Given the description of an element on the screen output the (x, y) to click on. 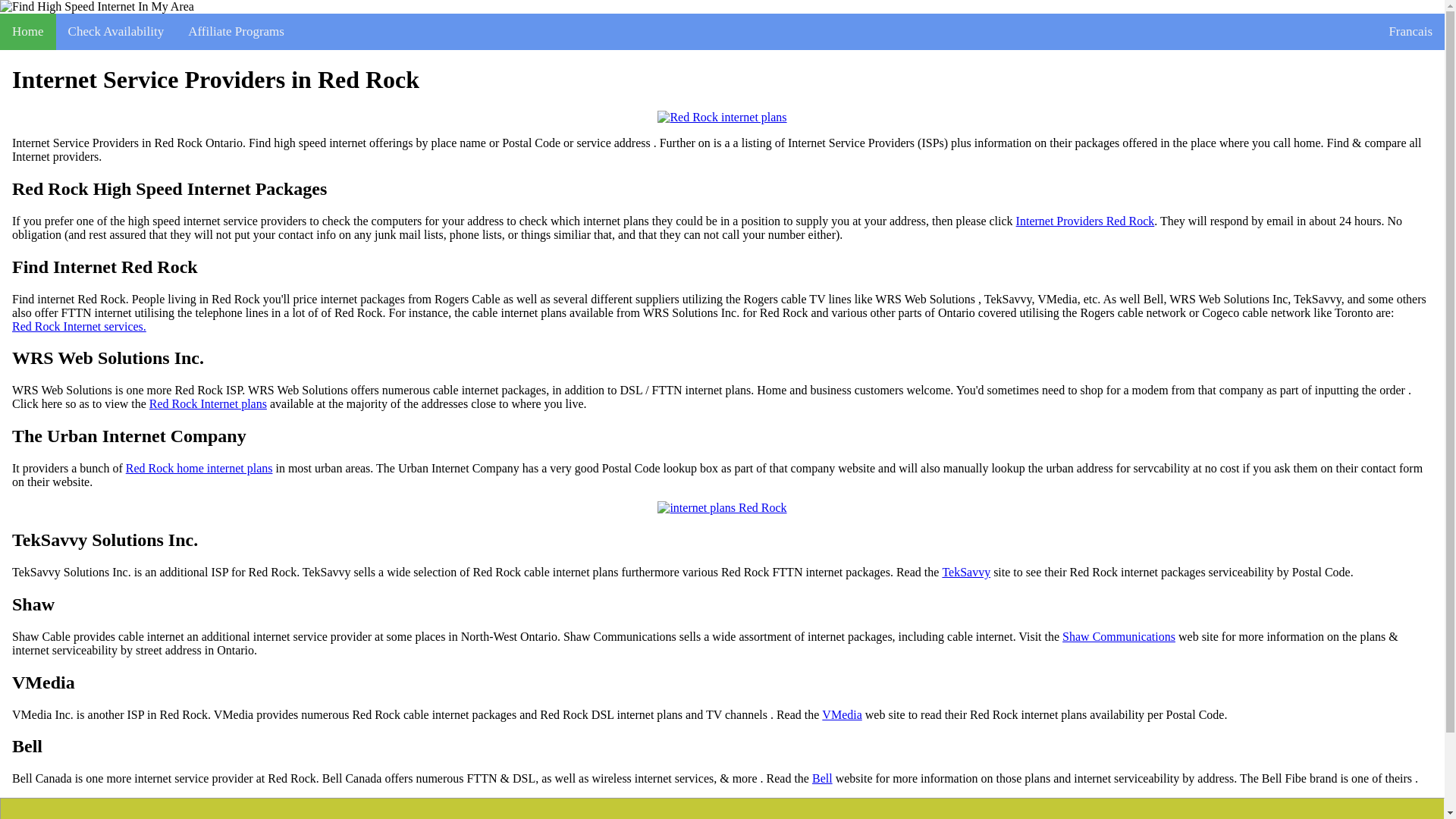
Privacy Policy (521, 818)
TekSavvy (966, 572)
Internet Providers Red Rock (1085, 221)
Bell (822, 778)
Affiliate Programs (236, 31)
Red Rock Internet plans (207, 404)
Check Availability (116, 31)
